Given the description of an element on the screen output the (x, y) to click on. 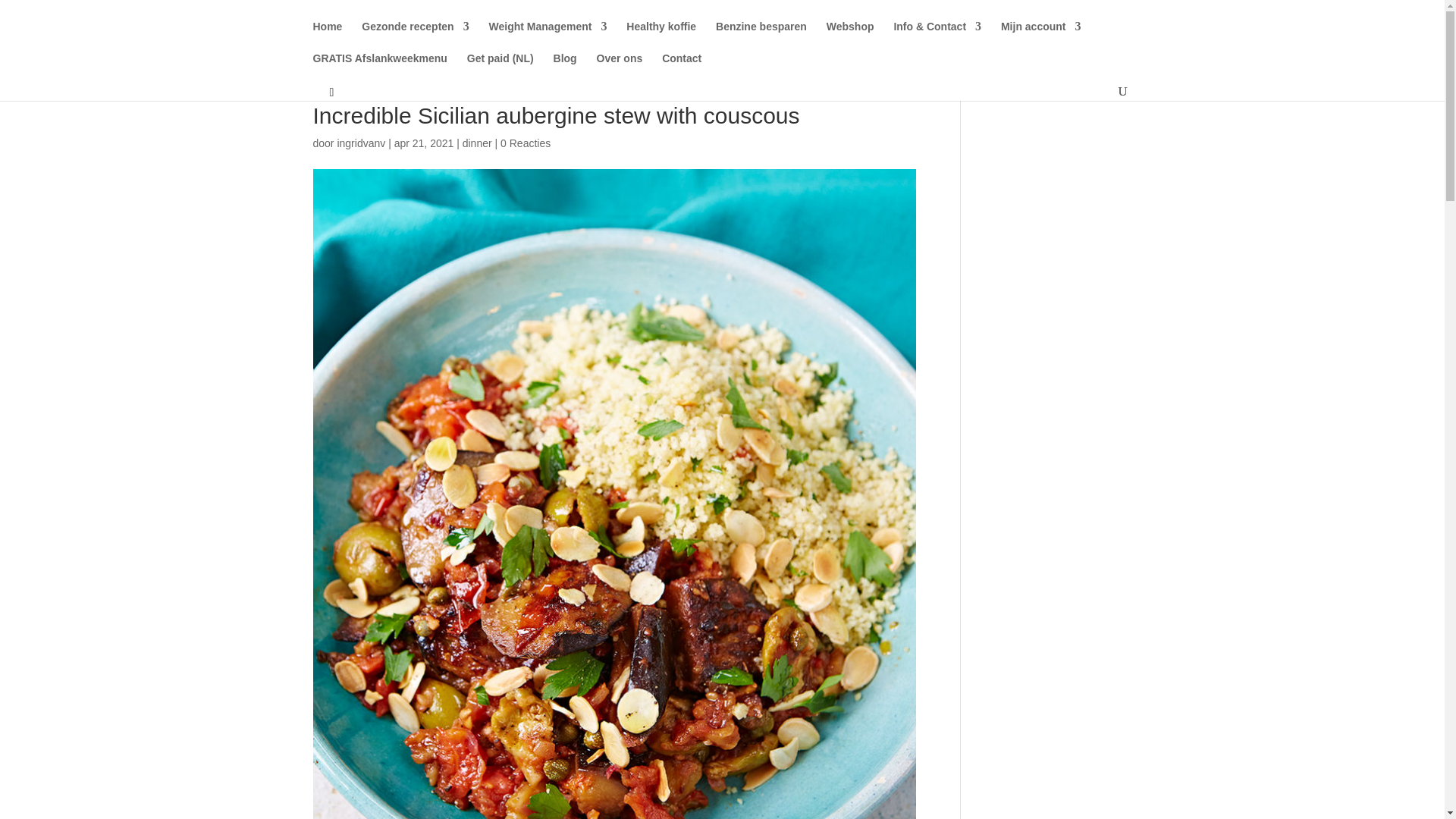
Posts van ingridvanv (360, 143)
Gezonde recepten (414, 37)
Home (327, 37)
